Given the description of an element on the screen output the (x, y) to click on. 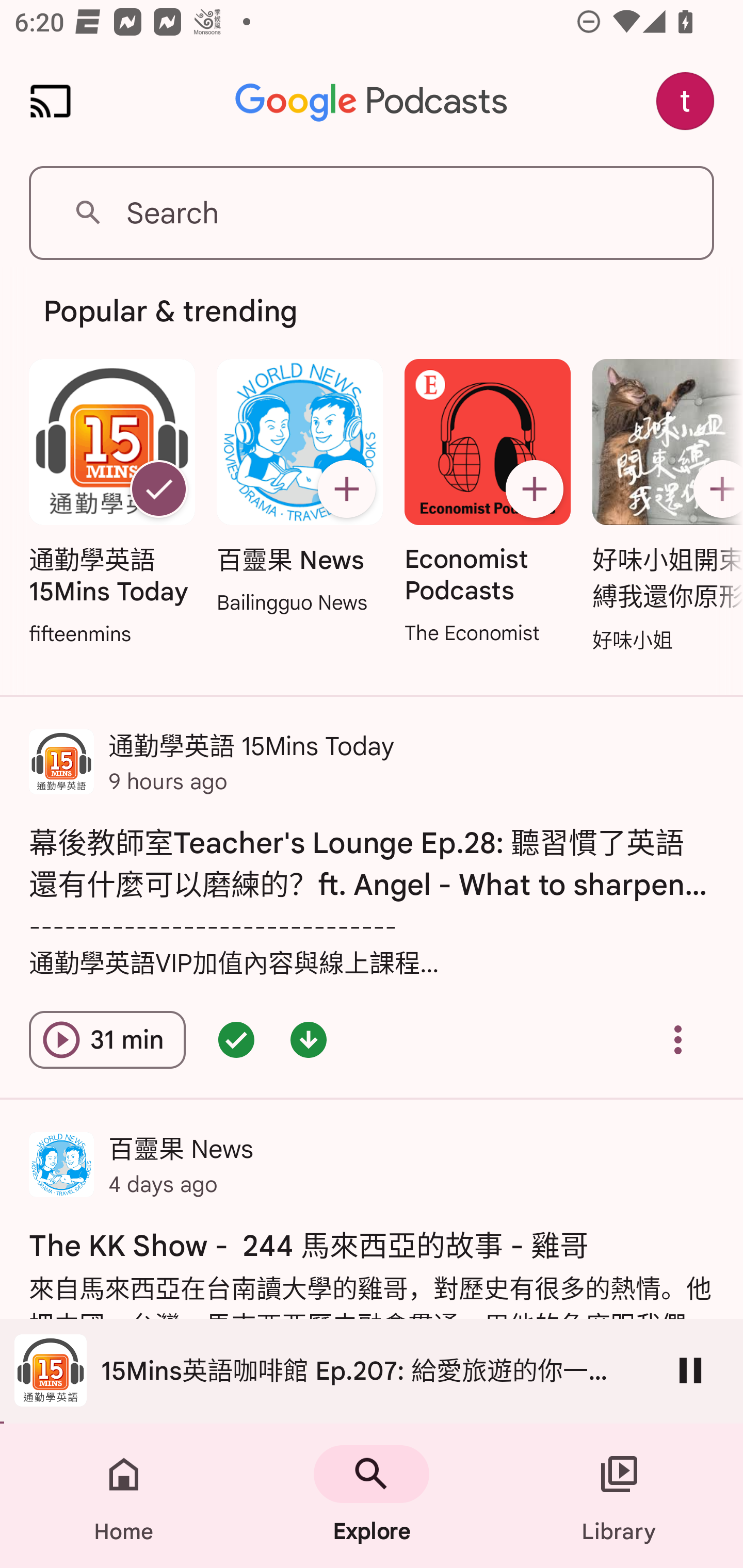
Cast. Disconnected (50, 101)
Search (371, 212)
百靈果 News Subscribe 百靈果 News Bailingguo News (299, 488)
好味小姐開束縛我還你原形 Subscribe 好味小姐開束縛我還你原形 好味小姐 (662, 507)
Unsubscribe (158, 489)
Subscribe (346, 489)
Subscribe (534, 489)
Subscribe (714, 489)
Episode queued - double tap for options (235, 1040)
Episode downloaded - double tap for options (308, 1040)
Overflow menu (677, 1040)
Pause (690, 1370)
Home (123, 1495)
Library (619, 1495)
